Given the description of an element on the screen output the (x, y) to click on. 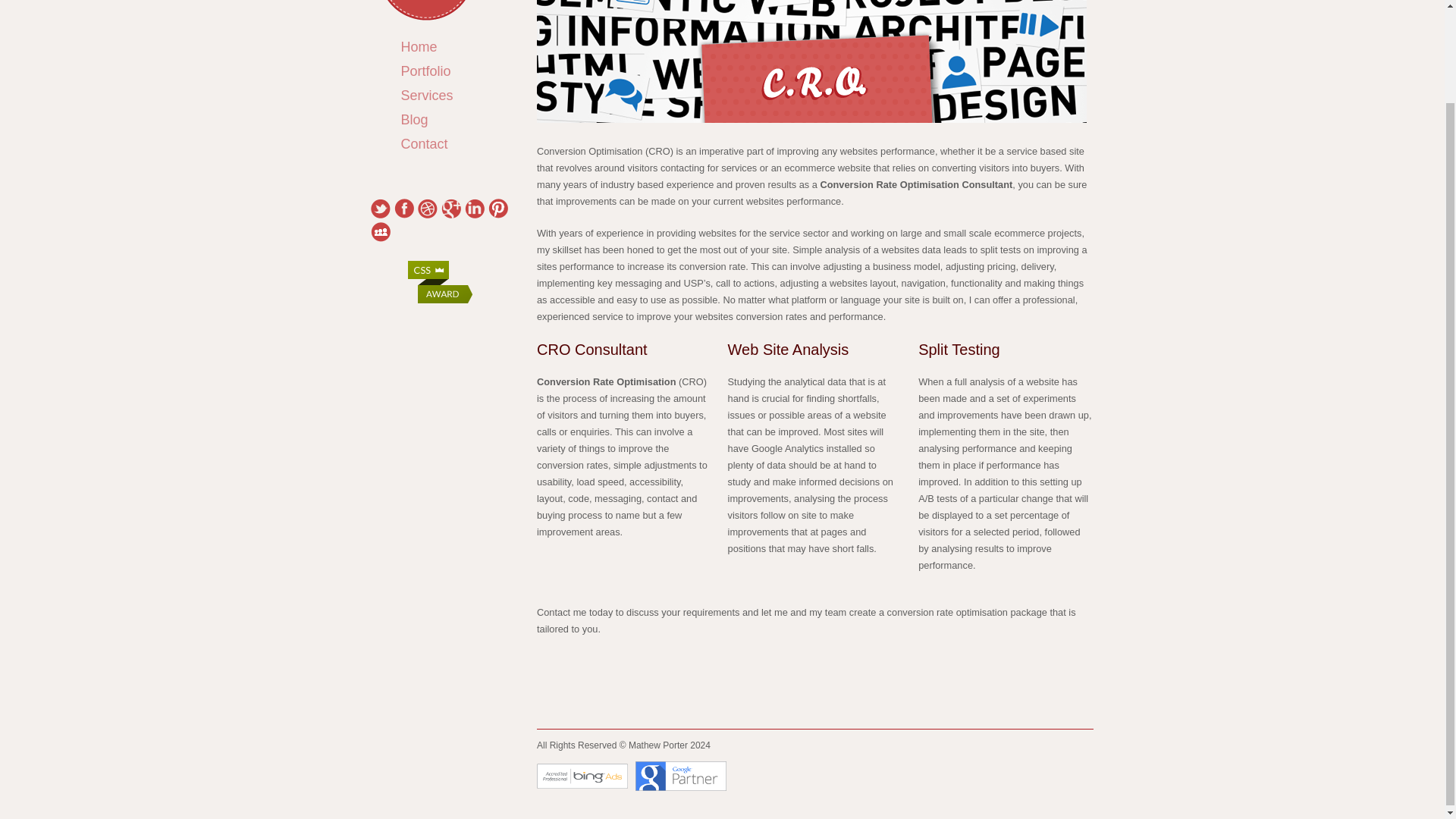
Contact (439, 143)
Services (441, 95)
Home (433, 46)
Like Mathew Porter on Facebook (403, 208)
Blog (429, 119)
Mathew Porter on Pinterest (497, 208)
Blog (429, 119)
Home (433, 46)
Portfolio (440, 70)
Follow Mathew Porter on Twitter (379, 208)
Connect with Mathew Porter on LinkedIn (473, 208)
Mathew Porter on MySpace (379, 231)
Portfolio (440, 70)
Find Mathew Porter on Dribbble (426, 208)
Contact (439, 143)
